Given the description of an element on the screen output the (x, y) to click on. 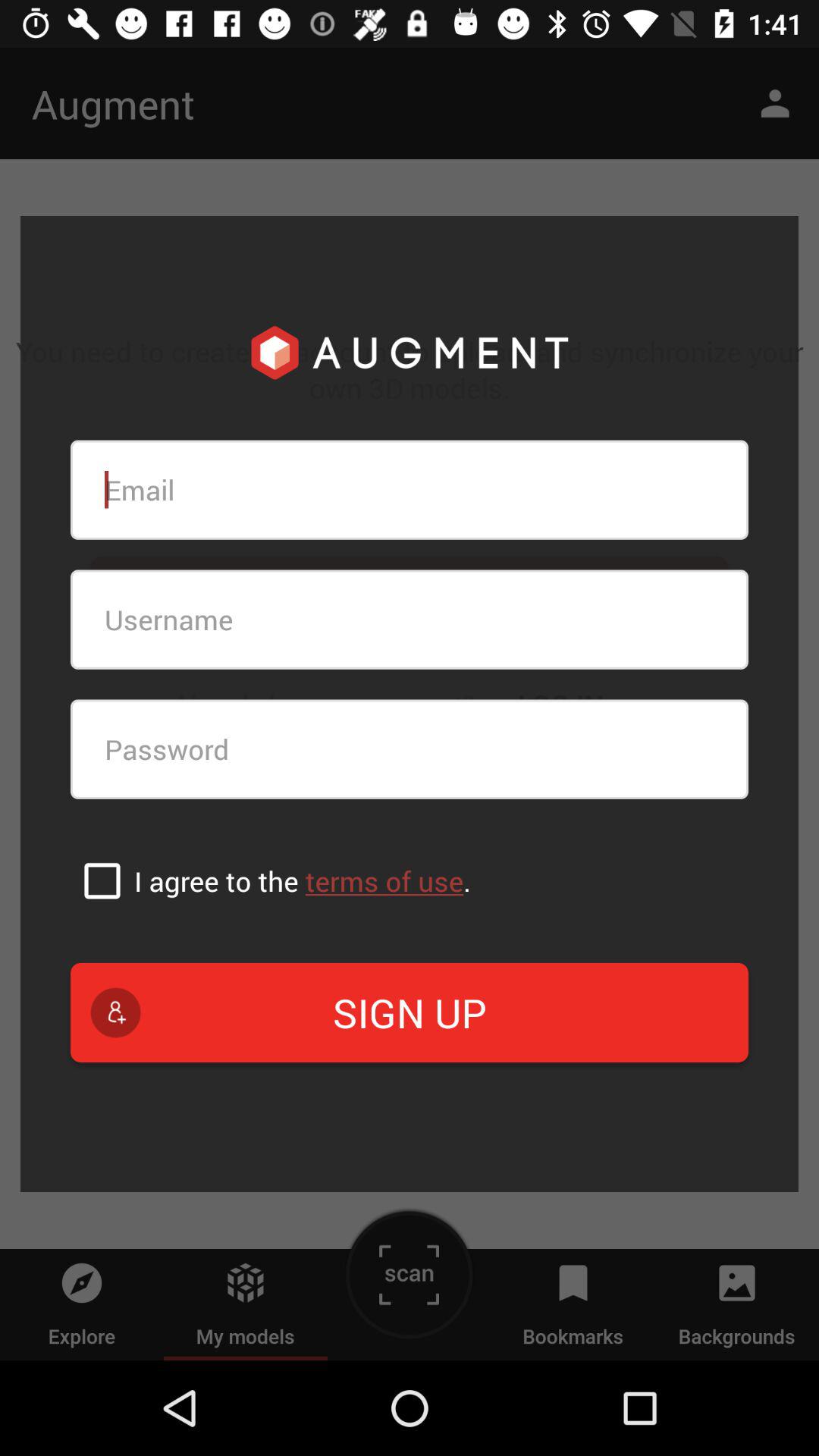
flip until sign up item (409, 1012)
